Given the description of an element on the screen output the (x, y) to click on. 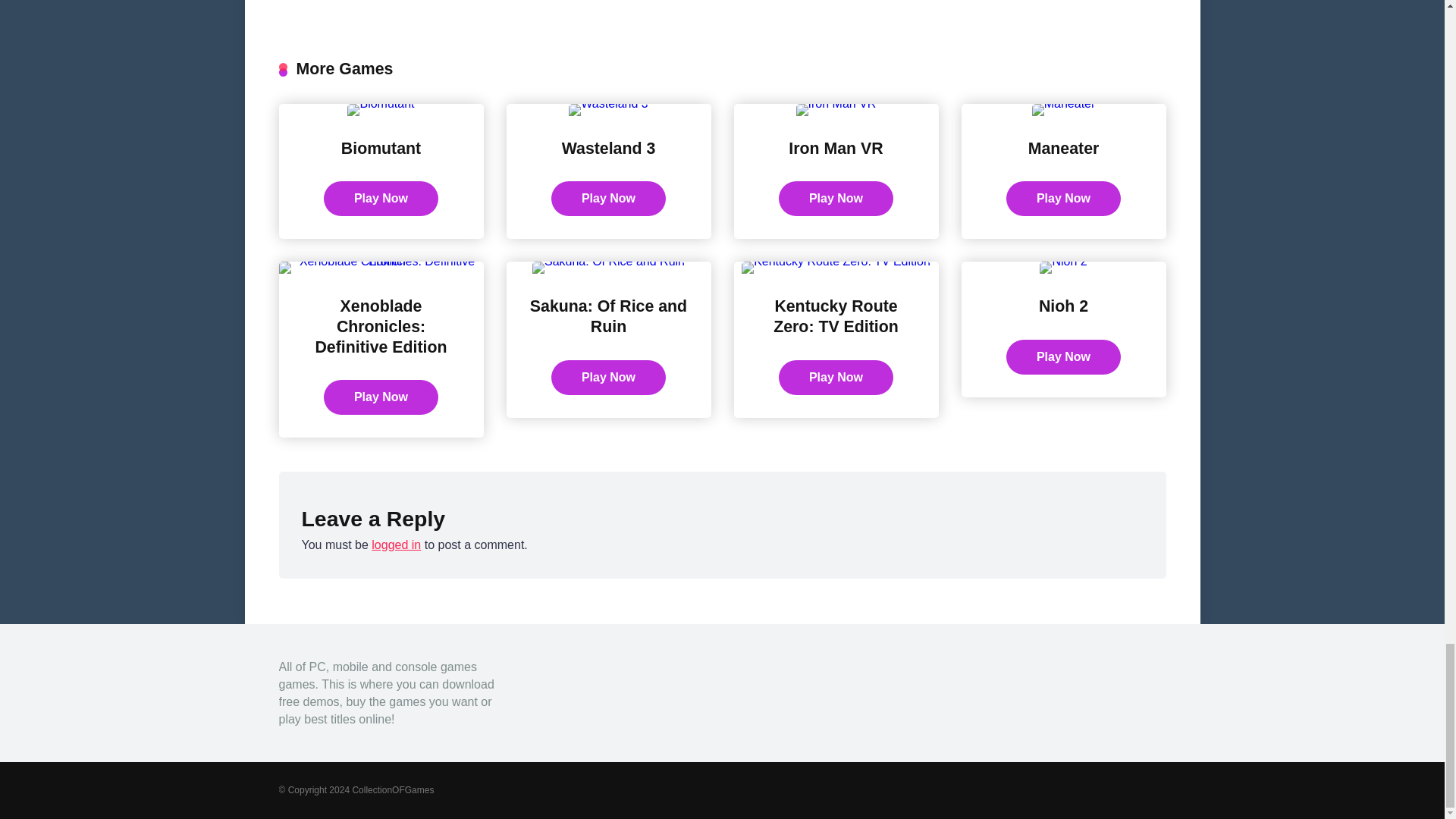
Play Now (608, 198)
Sakuna: Of Rice and Ruin (608, 316)
logged in (395, 544)
Xenoblade Chronicles: Definitive Edition (380, 326)
Iron Man VR (835, 148)
Play Now (608, 377)
Wasteland 3 (609, 148)
Maneater (1063, 148)
Play Now (835, 377)
Play Now (1063, 356)
